Given the description of an element on the screen output the (x, y) to click on. 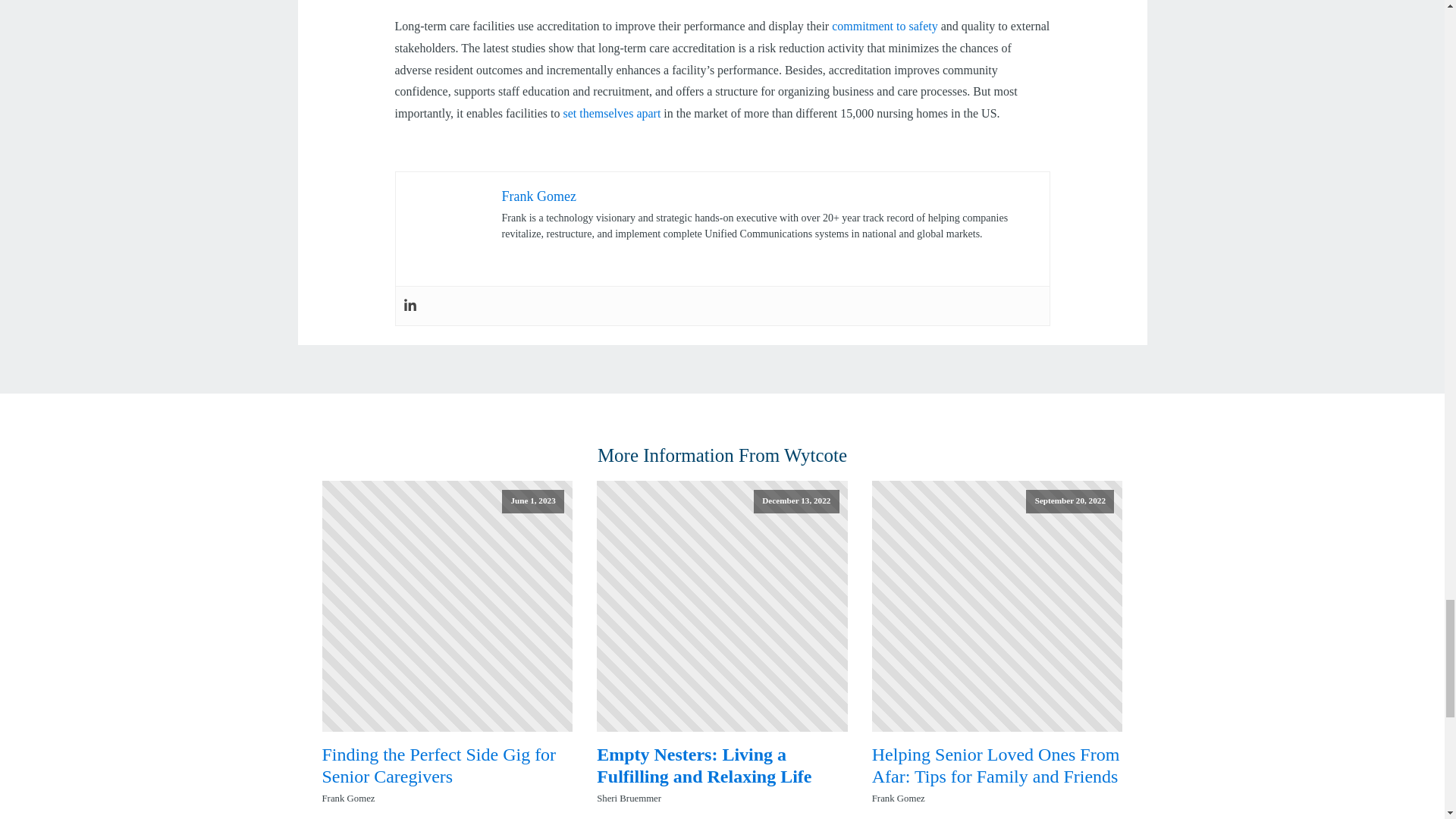
commitment to safety (884, 25)
Frank Gomez (539, 196)
set themselves apart (612, 113)
